Given the description of an element on the screen output the (x, y) to click on. 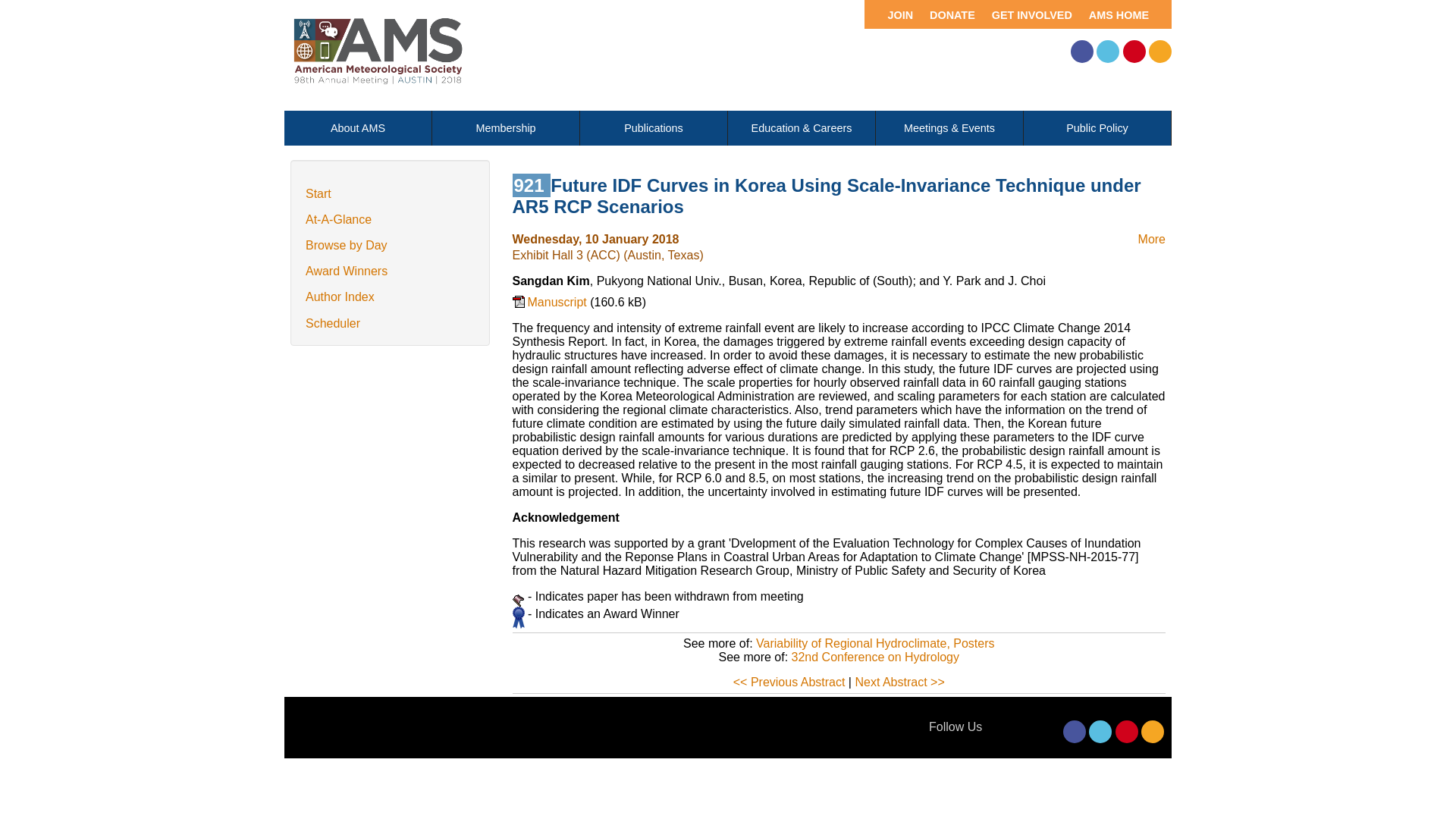
32nd Conference on Hydrology (875, 656)
Publications (652, 127)
RSS (1152, 731)
AMS HOME (1124, 14)
About AMS (356, 127)
GET INVOLVED (1028, 14)
More (1152, 238)
JOIN (891, 14)
YouTube (1126, 731)
Manuscript (551, 309)
